Given the description of an element on the screen output the (x, y) to click on. 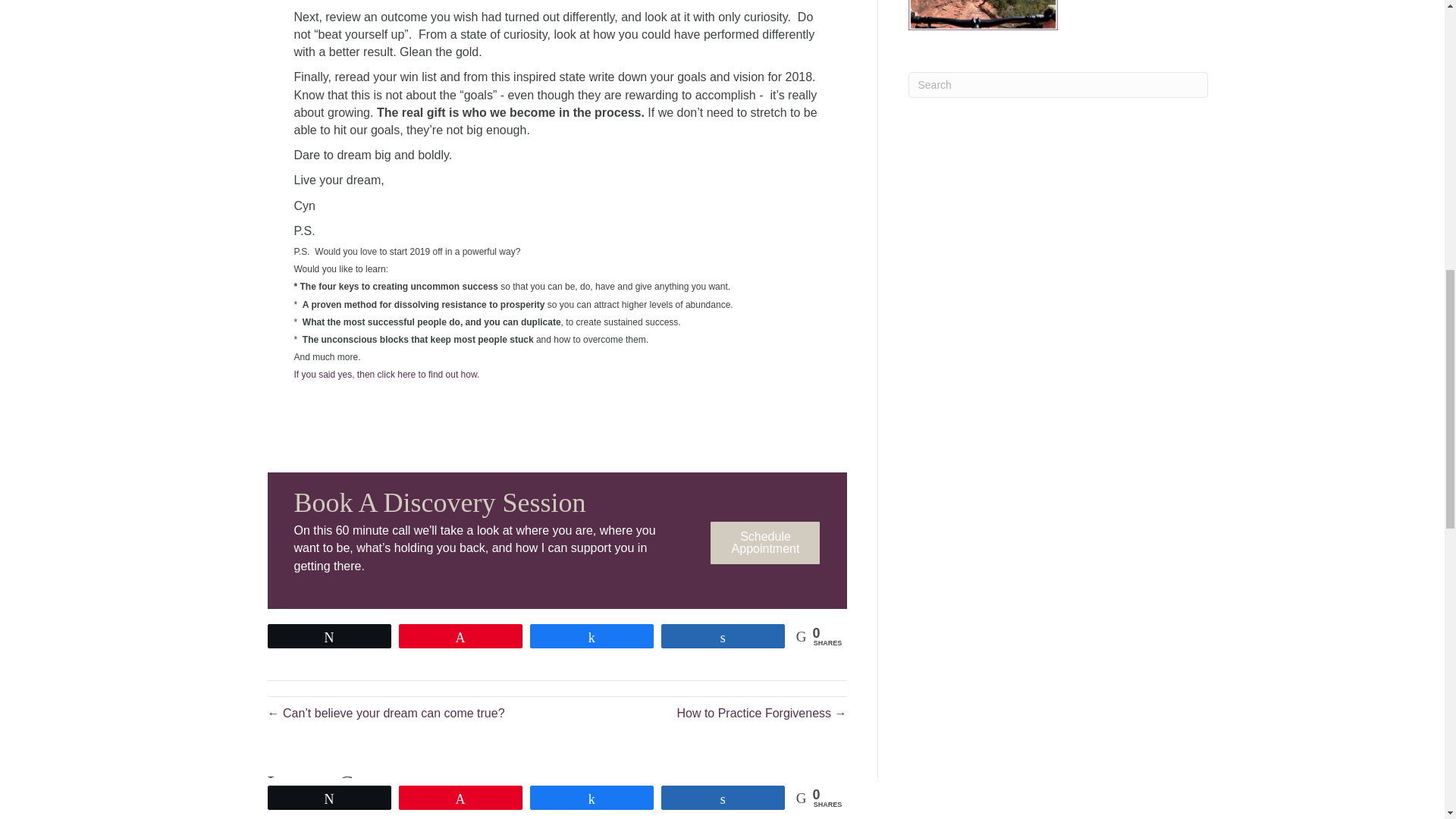
Schedule Appointment (764, 542)
Mountain Biking as a Metaphor for Life (983, 15)
If you said yes, then click here to find out how.  (387, 374)
